Given the description of an element on the screen output the (x, y) to click on. 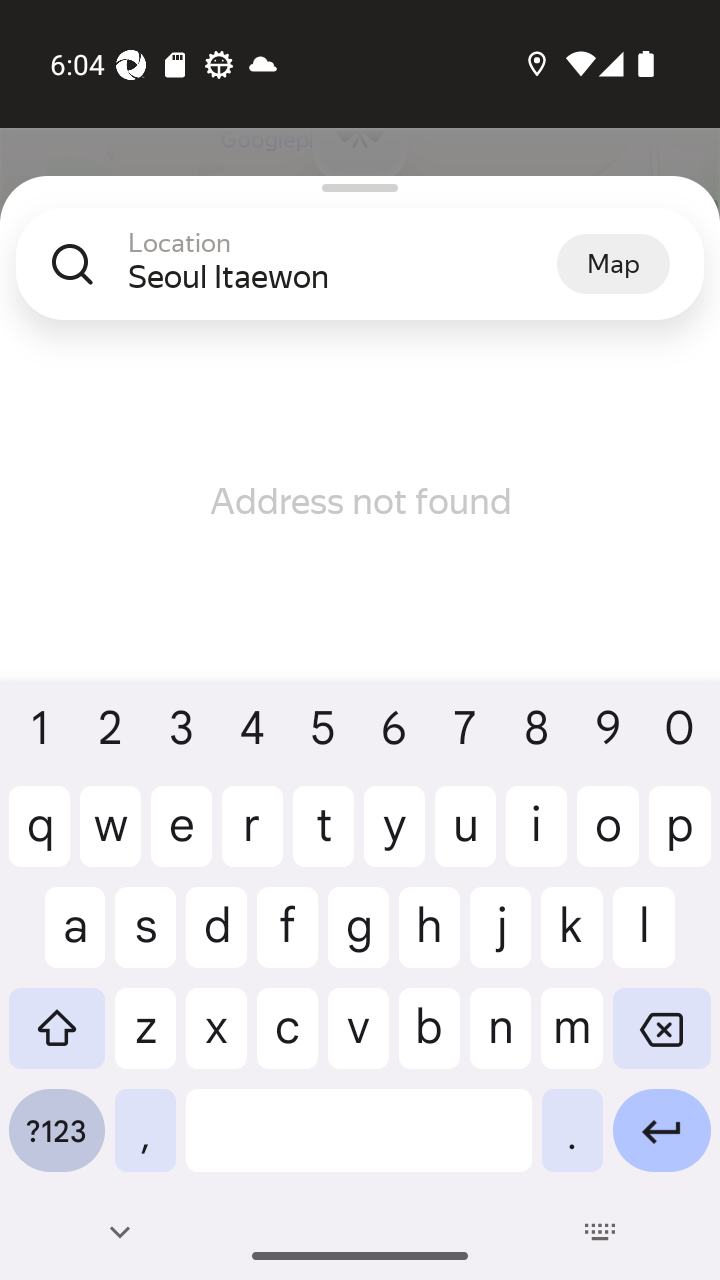
Location Seoul Itaewon Map (360, 280)
Map (613, 263)
Seoul Itaewon (341, 276)
